Given the description of an element on the screen output the (x, y) to click on. 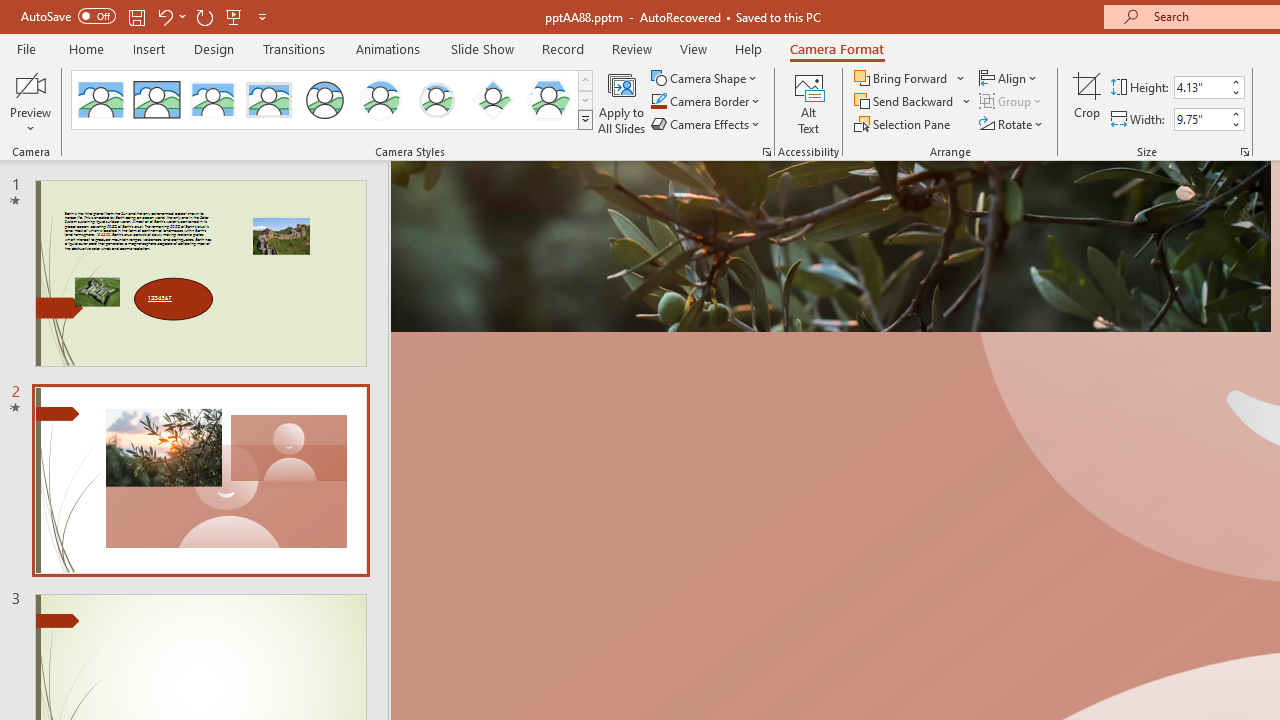
Rotate (1012, 124)
Simple Frame Rectangle (157, 100)
Selection Pane... (904, 124)
Soft Edge Circle (436, 100)
AutomationID: CameoStylesGallery (333, 99)
